Given the description of an element on the screen output the (x, y) to click on. 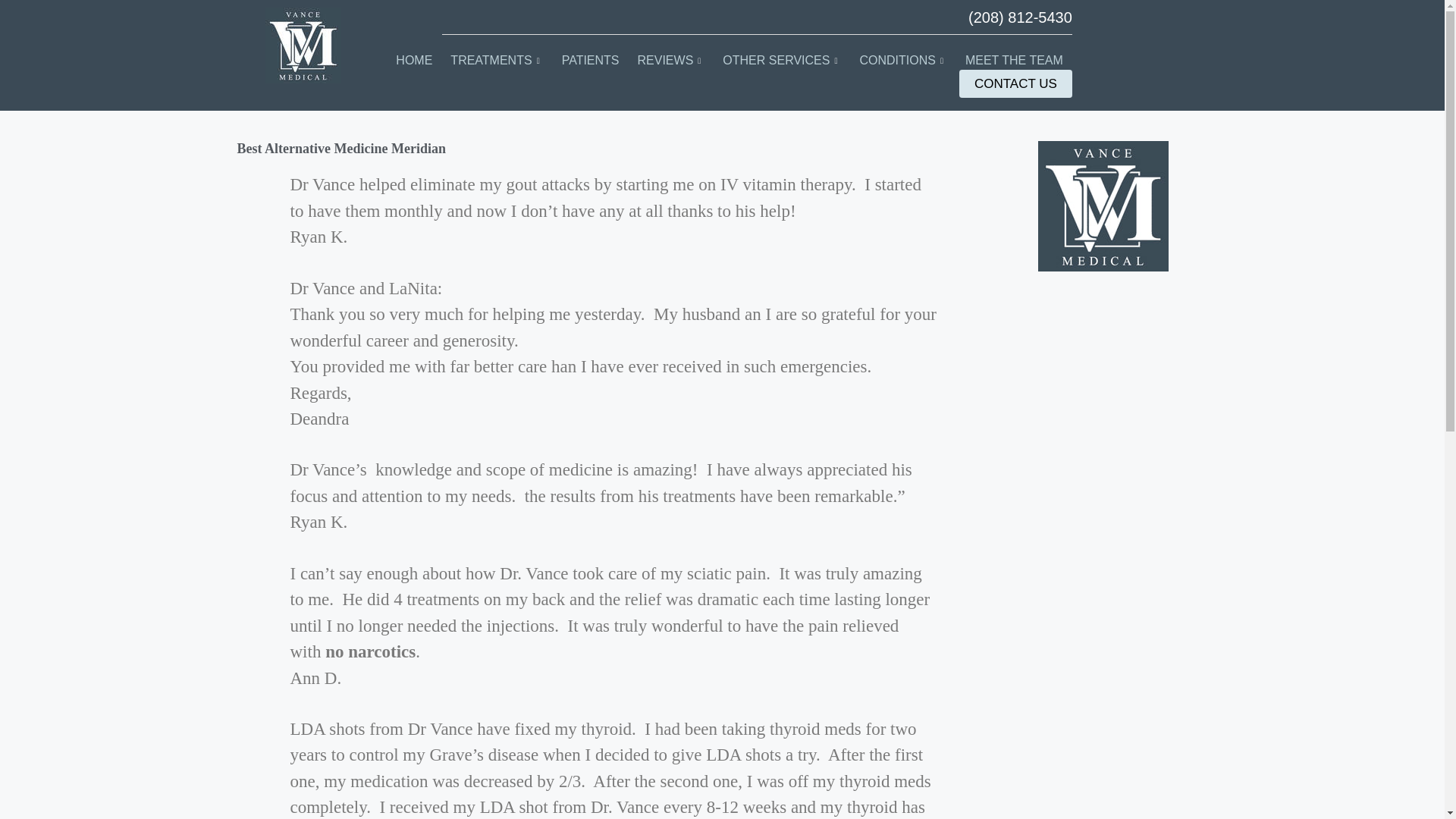
PATIENTS (590, 60)
TREATMENTS (496, 60)
REVIEWS (671, 60)
OTHER SERVICES (781, 60)
HOME (414, 60)
CONDITIONS (902, 60)
